Given the description of an element on the screen output the (x, y) to click on. 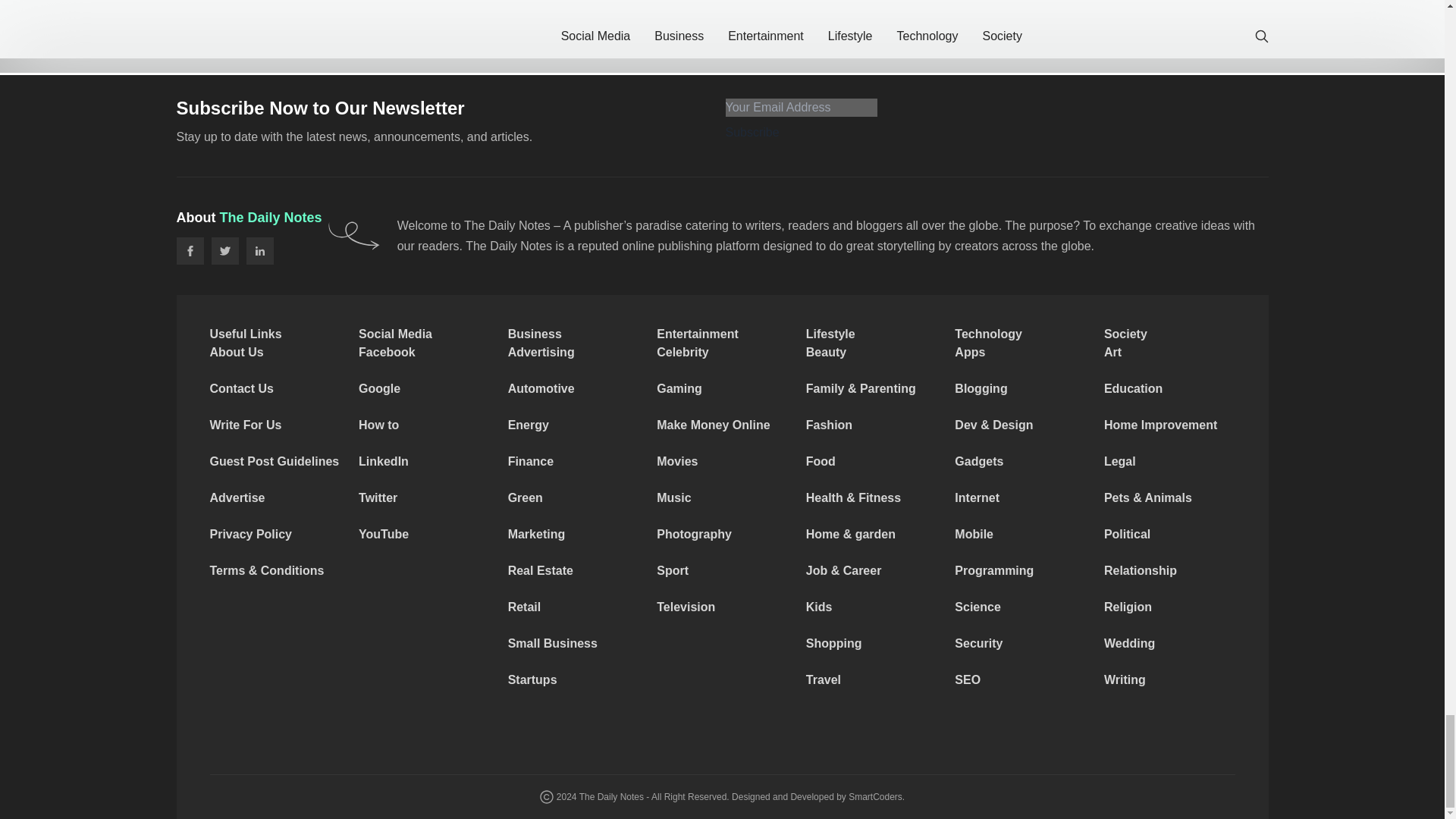
Subscribe (751, 132)
